Given the description of an element on the screen output the (x, y) to click on. 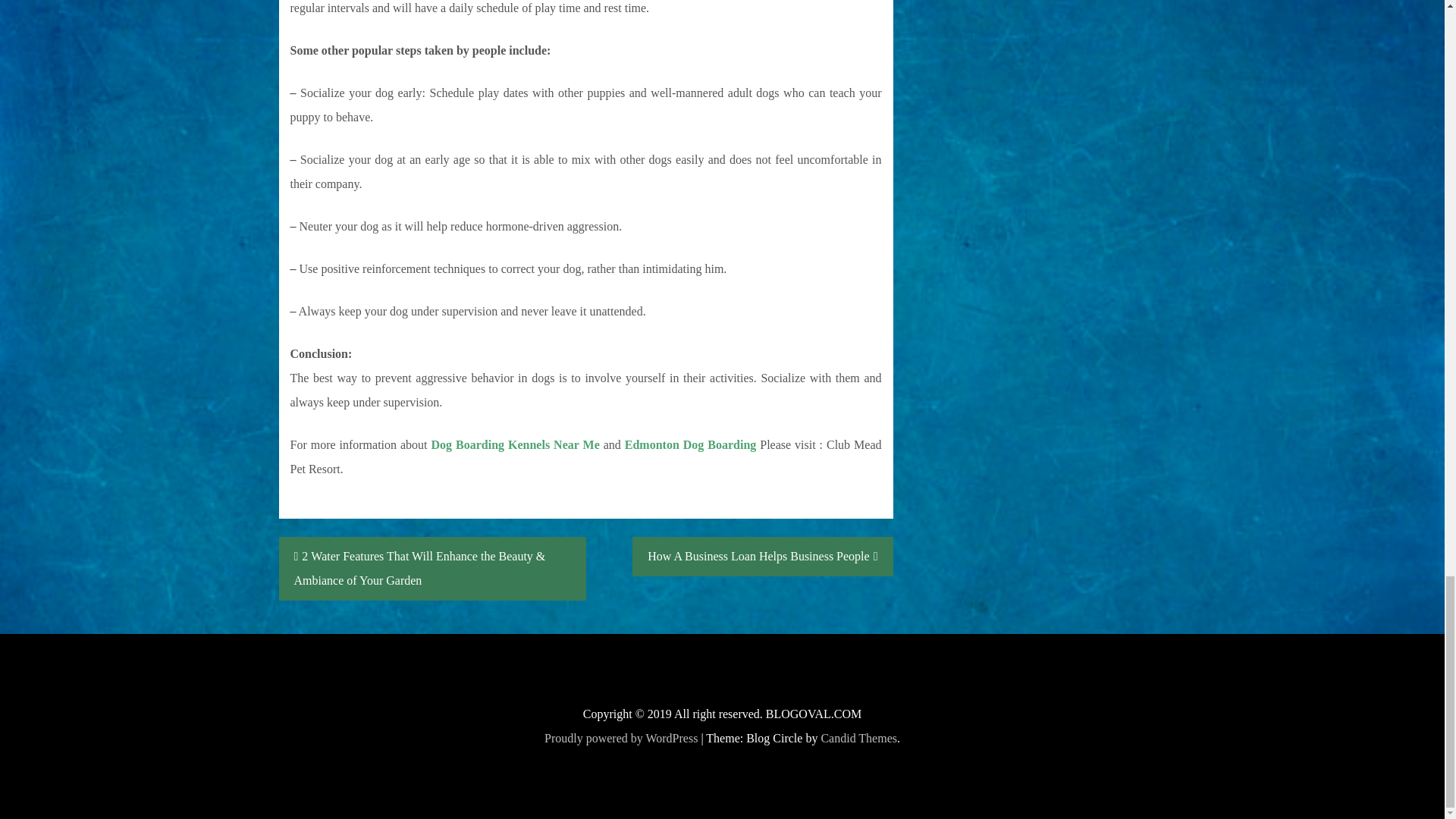
Edmonton Dog Boarding (690, 444)
How A Business Loan Helps Business People (761, 556)
Dog Boarding Kennels Near Me (514, 444)
